Given the description of an element on the screen output the (x, y) to click on. 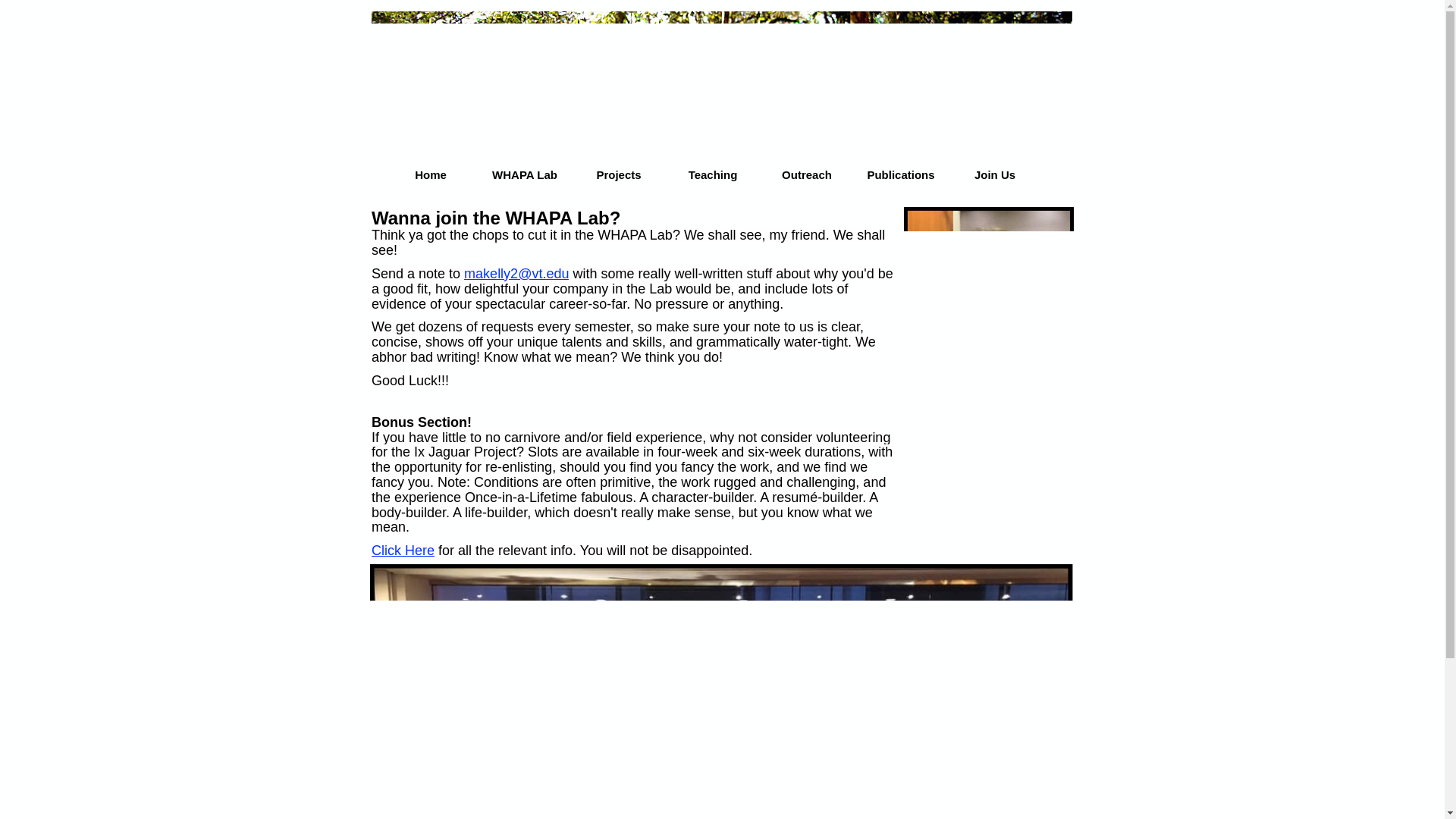
Click Here (402, 549)
Publications (901, 174)
Teaching (712, 174)
Outreach (806, 174)
WHAPA Lab (524, 174)
Join Us (994, 174)
Home (430, 174)
Projects (618, 174)
